Given the description of an element on the screen output the (x, y) to click on. 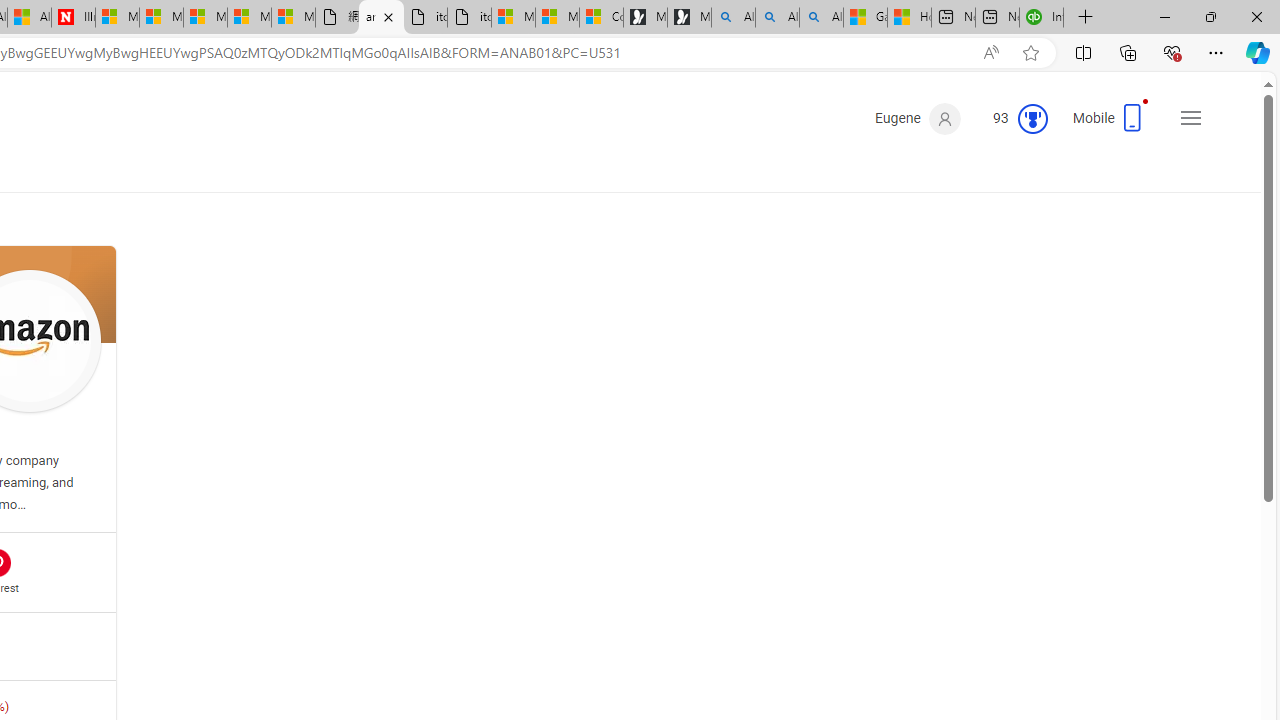
Mobile (1112, 124)
Alabama high school quarterback dies - Search (733, 17)
itconcepthk.com/projector_solutions.mp4 (469, 17)
Microsoft Rewards 93 (1012, 119)
Alabama high school quarterback dies - Search Videos (821, 17)
Microsoft Services Agreement (161, 17)
amazon - Search (381, 17)
